Given the description of an element on the screen output the (x, y) to click on. 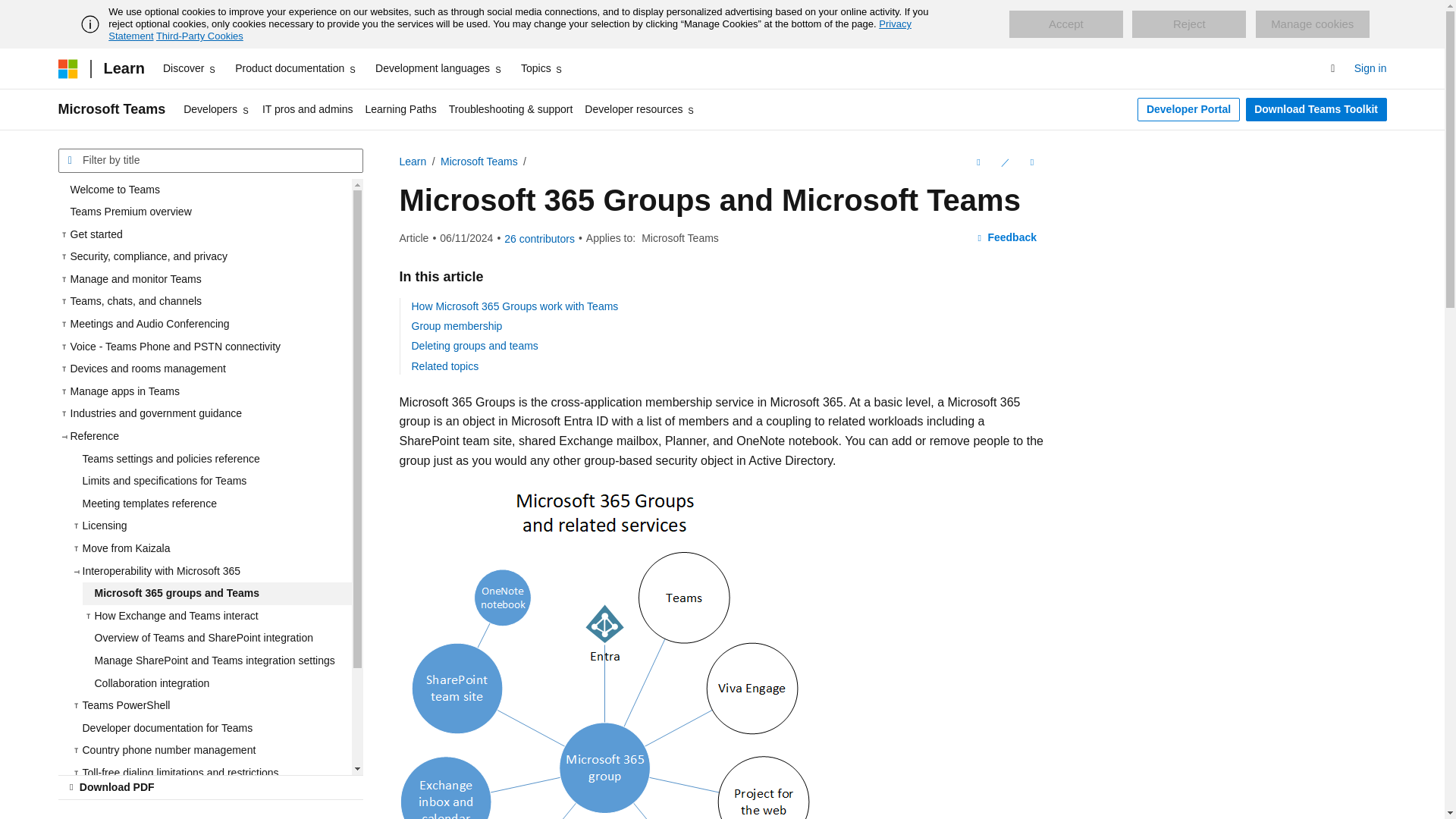
Development languages (438, 68)
More actions (1031, 161)
Third-Party Cookies (199, 35)
Discover (189, 68)
View all contributors (539, 238)
IT pros and admins (307, 109)
Privacy Statement (509, 29)
Sign in (1370, 68)
Edit This Document (1004, 161)
Topics (542, 68)
Manage cookies (1312, 23)
Microsoft Teams (111, 109)
Learning Paths (400, 109)
Accept (1065, 23)
Developers (216, 109)
